Given the description of an element on the screen output the (x, y) to click on. 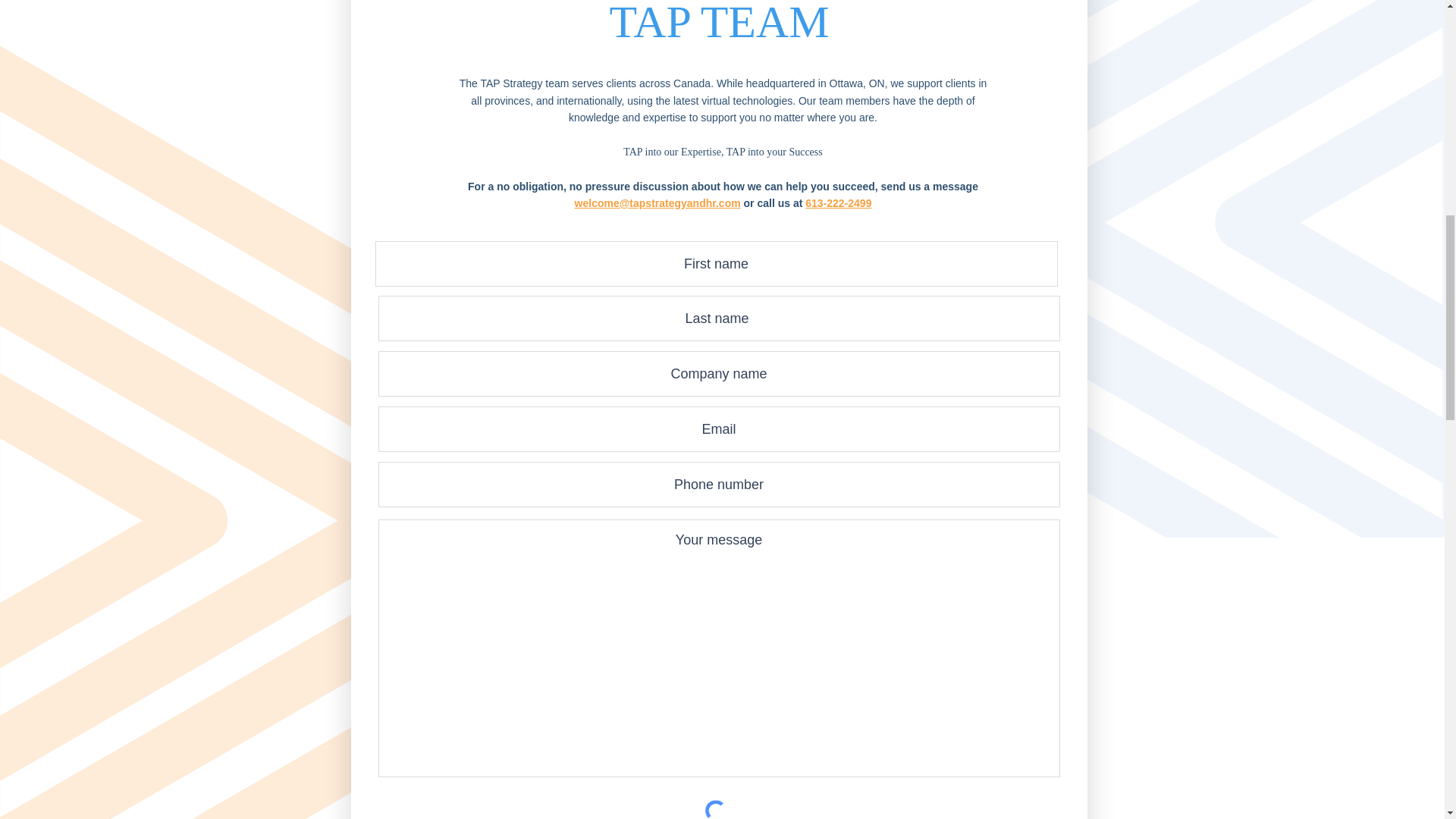
613-222-2499 (837, 203)
